Given the description of an element on the screen output the (x, y) to click on. 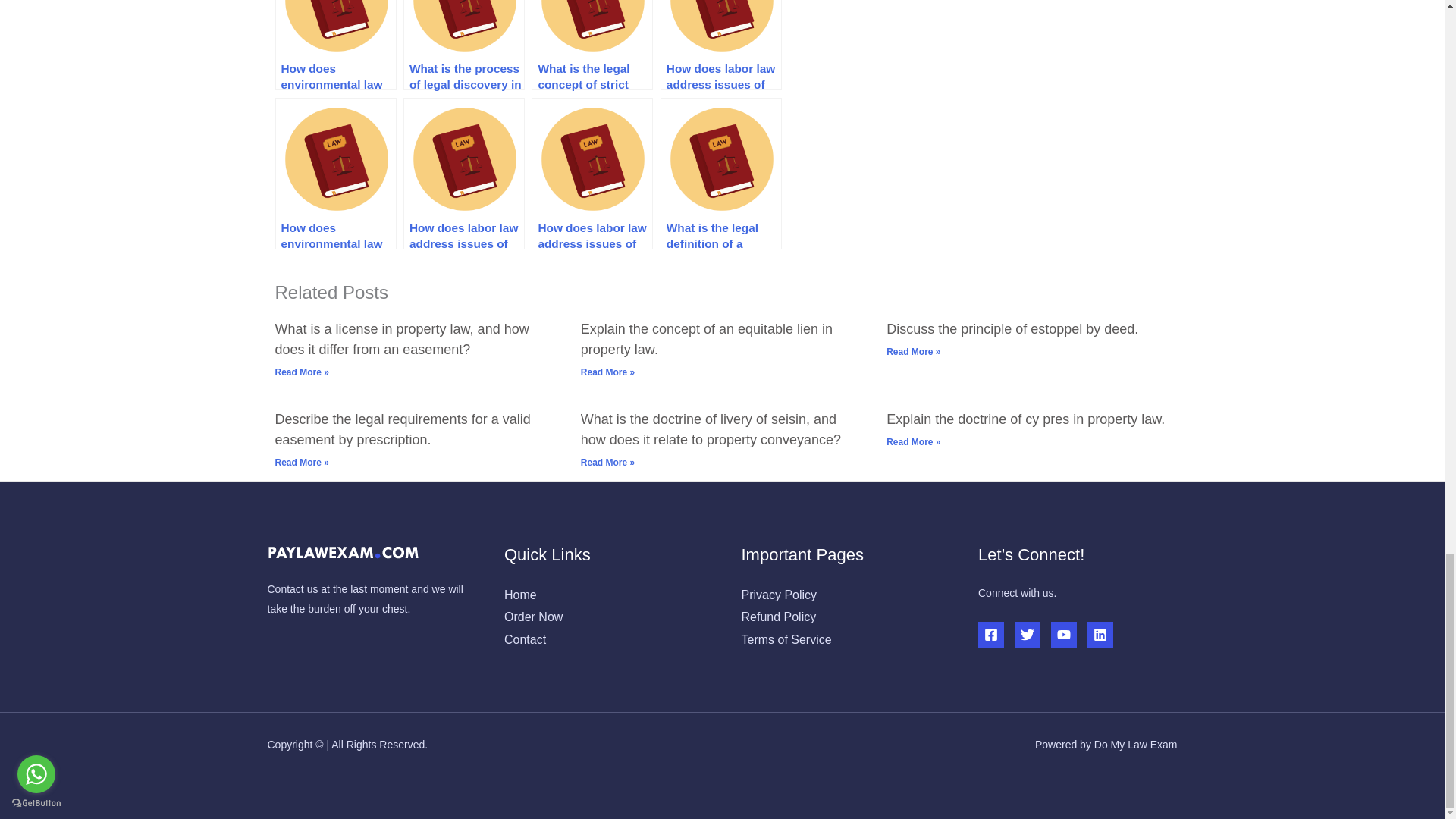
What is the process of legal discovery in patent litigation? (463, 45)
